Given the description of an element on the screen output the (x, y) to click on. 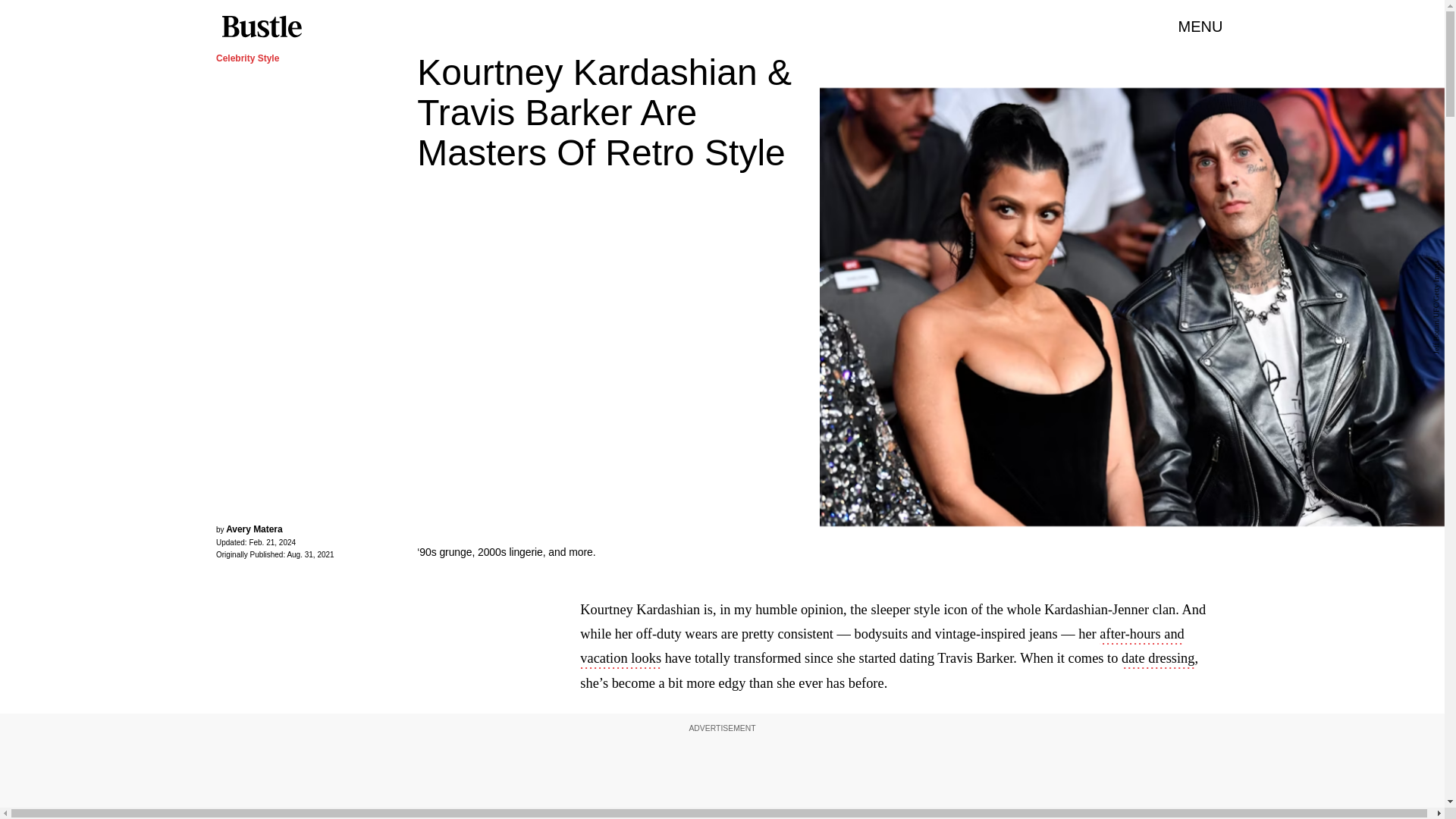
Avery Matera (253, 529)
Bustle (261, 26)
date dressing (1158, 659)
after-hours and vacation looks (882, 647)
